Given the description of an element on the screen output the (x, y) to click on. 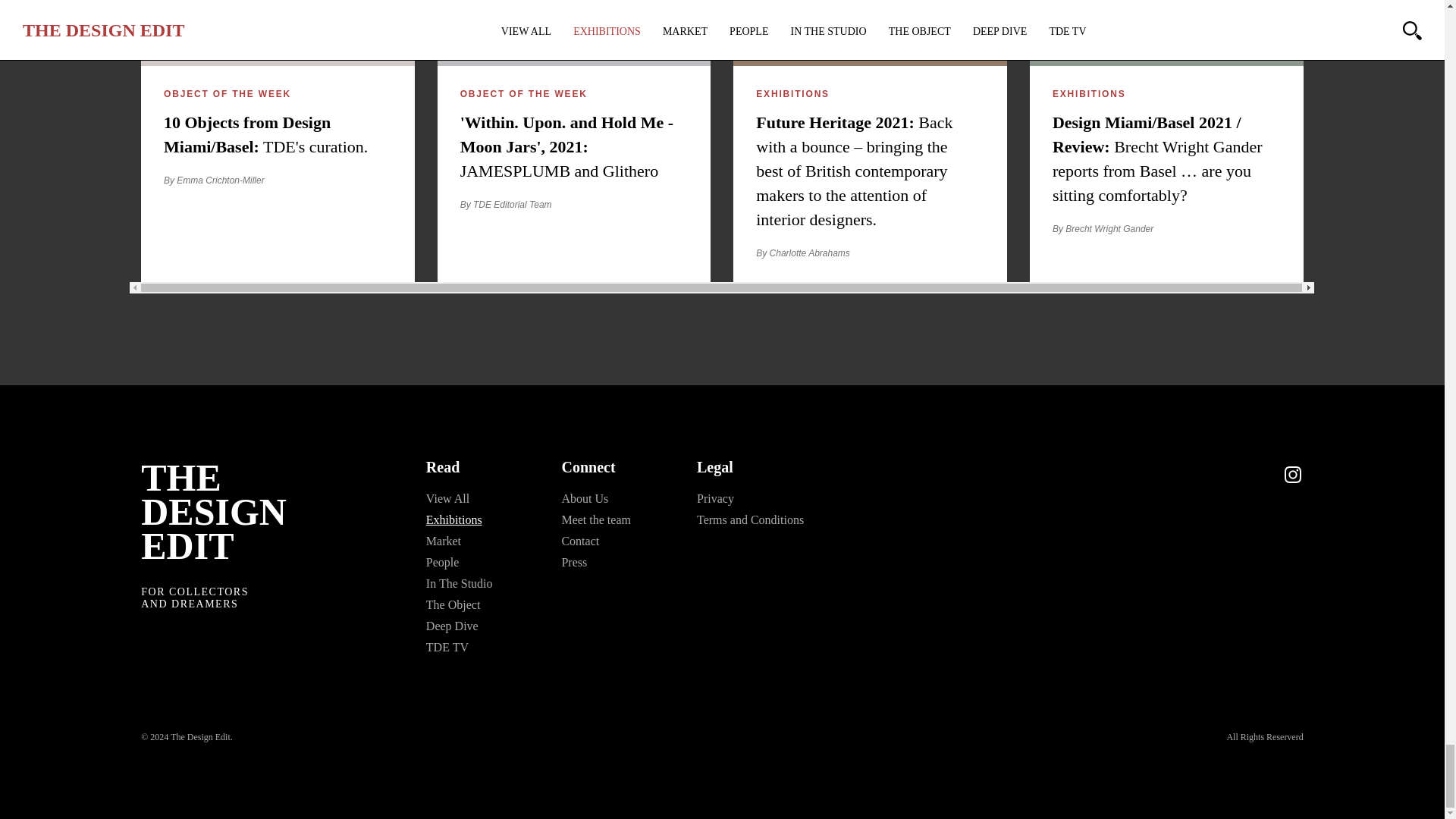
Contact (579, 540)
TDE TV (447, 646)
Press (573, 562)
Market (443, 540)
Deep Dive (452, 625)
In The Studio (459, 583)
Meet the team (595, 519)
View All (447, 498)
THE DESIGN EDIT (213, 511)
The Object (453, 604)
Privacy (715, 498)
Exhibitions (453, 519)
About Us (584, 498)
People (443, 562)
